Given the description of an element on the screen output the (x, y) to click on. 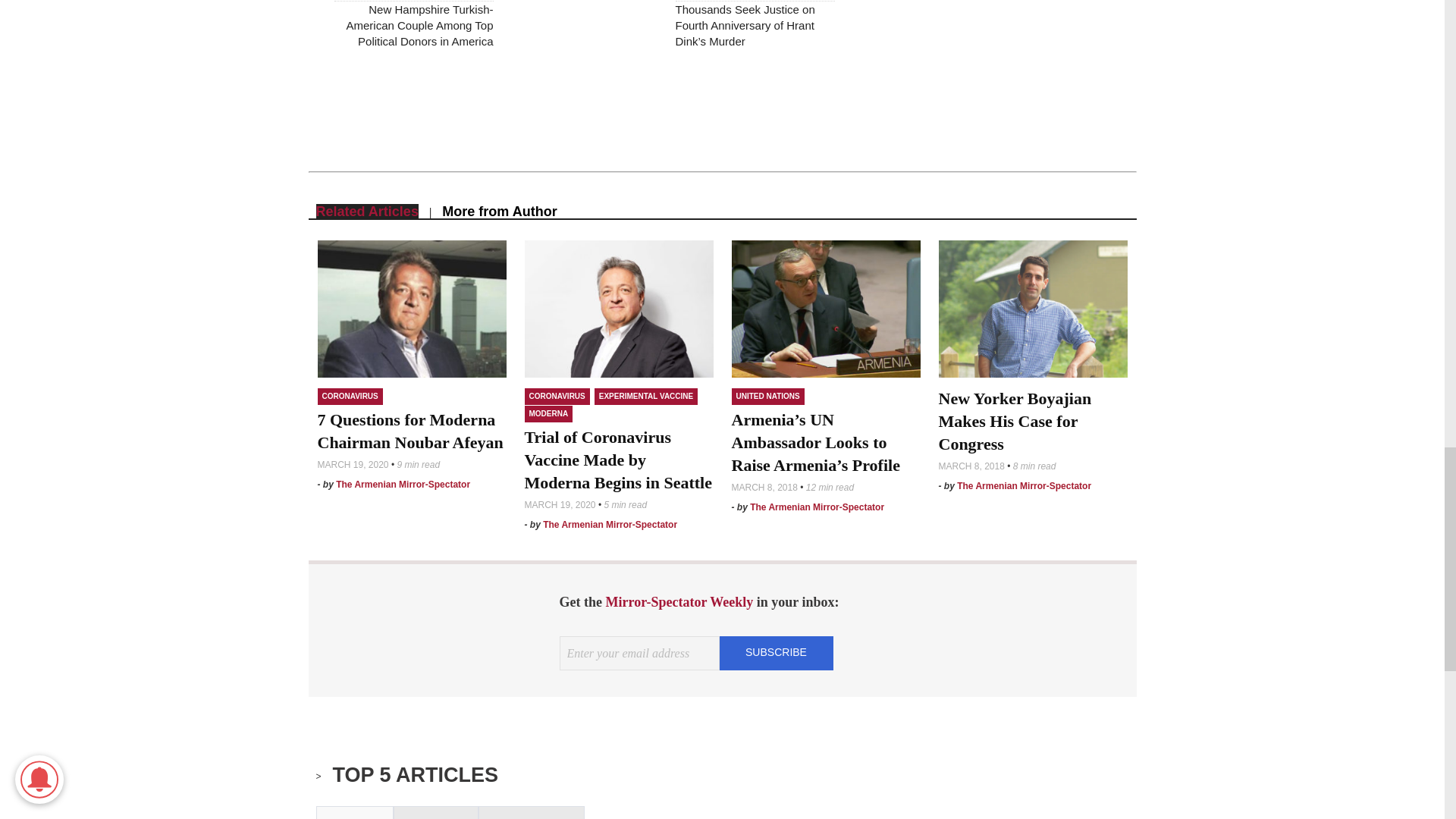
New Yorker Boyajian Makes His Case for Congress (1032, 308)
7 Questions for Moderna Chairman Noubar Afeyan (409, 431)
7 Questions for Moderna Chairman Noubar Afeyan (411, 308)
New Yorker Boyajian Makes His Case for Congress (1015, 421)
SUBSCRIBE (775, 652)
